Given the description of an element on the screen output the (x, y) to click on. 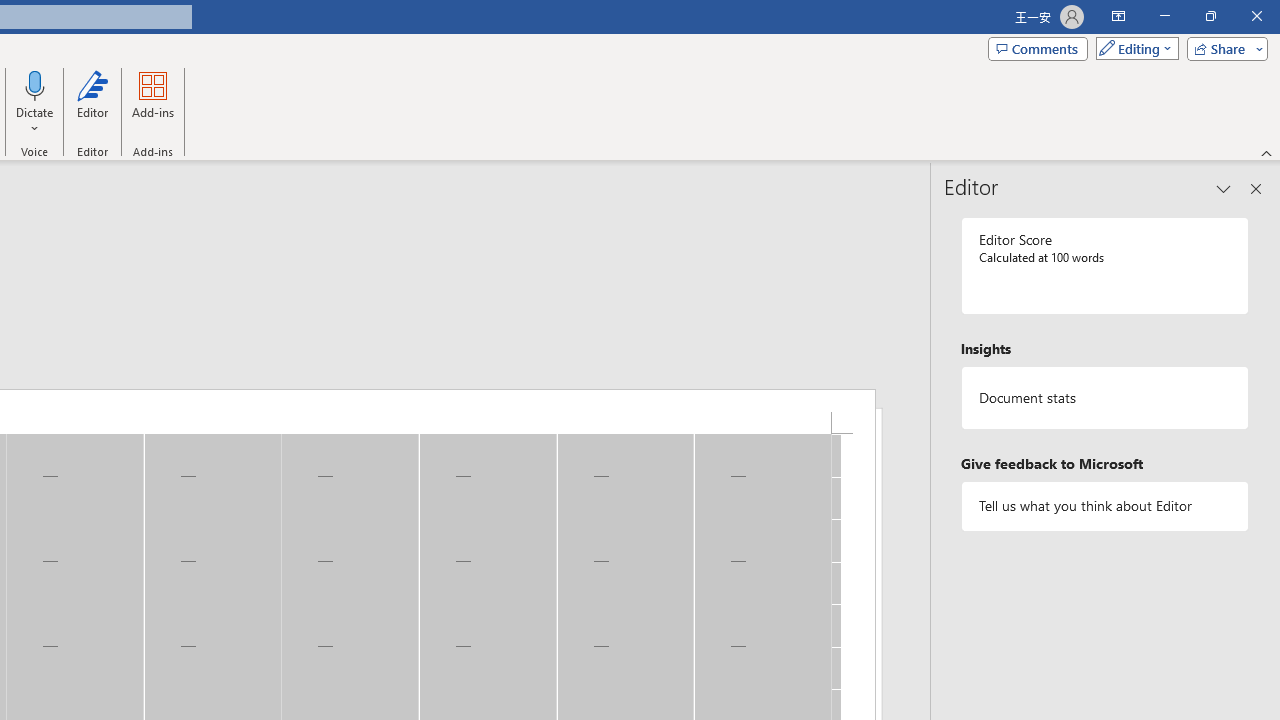
Mode (1133, 47)
